Given the description of an element on the screen output the (x, y) to click on. 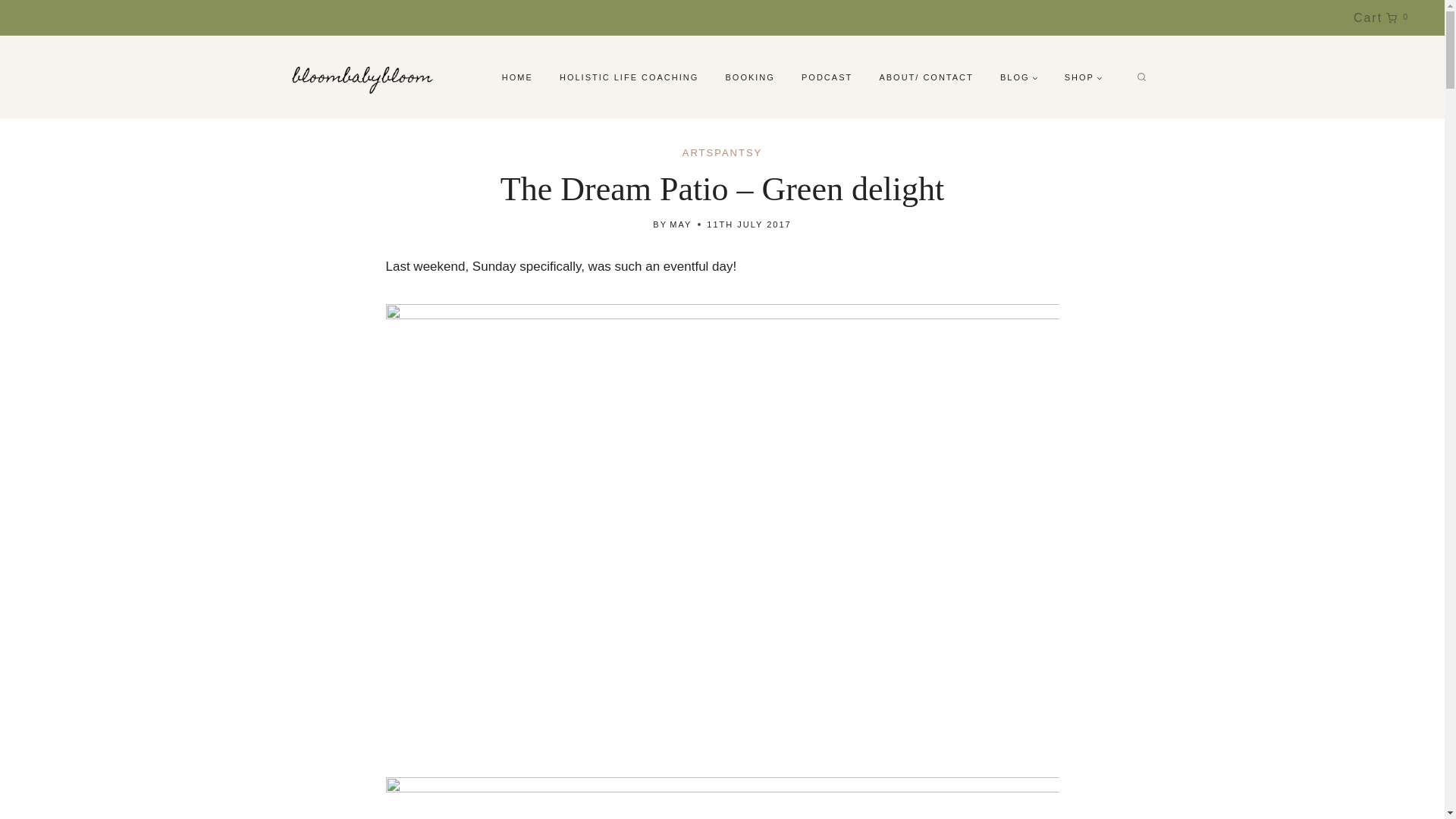
BLOG (1019, 76)
PODCAST (825, 76)
HOLISTIC LIFE COACHING (628, 76)
HOME (516, 76)
BOOKING (750, 76)
ARTSPANTSY (721, 152)
MAY (680, 224)
SHOP (1083, 76)
